Given the description of an element on the screen output the (x, y) to click on. 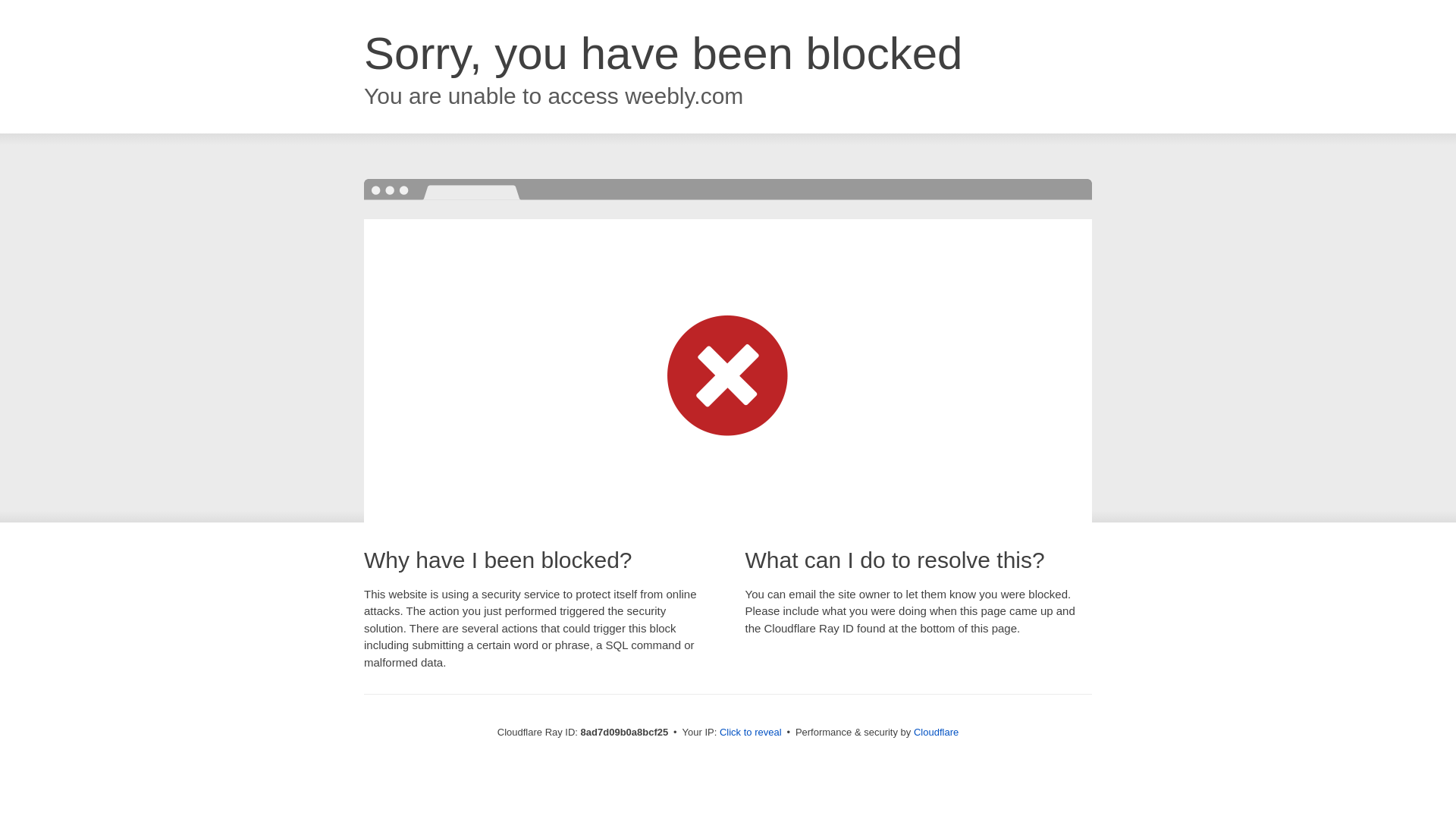
Click to reveal (750, 732)
Cloudflare (936, 731)
